Given the description of an element on the screen output the (x, y) to click on. 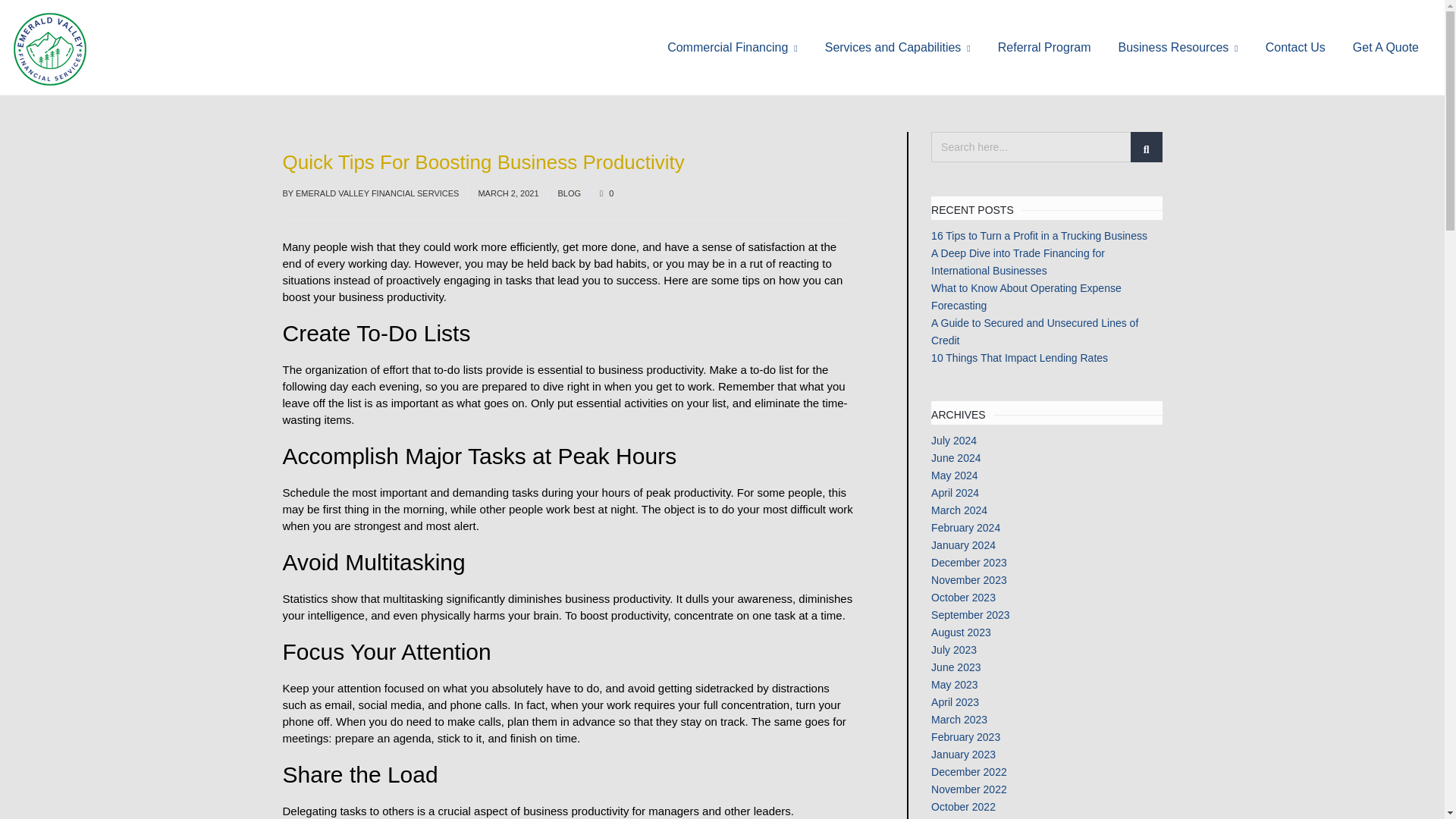
Search here... (1046, 146)
View all posts in Blog (568, 192)
Search here... (1046, 146)
Emerald Valley Financial Services (49, 48)
Commercial Financing (731, 46)
Posts by Emerald Valley Financial Services (376, 192)
